Given the description of an element on the screen output the (x, y) to click on. 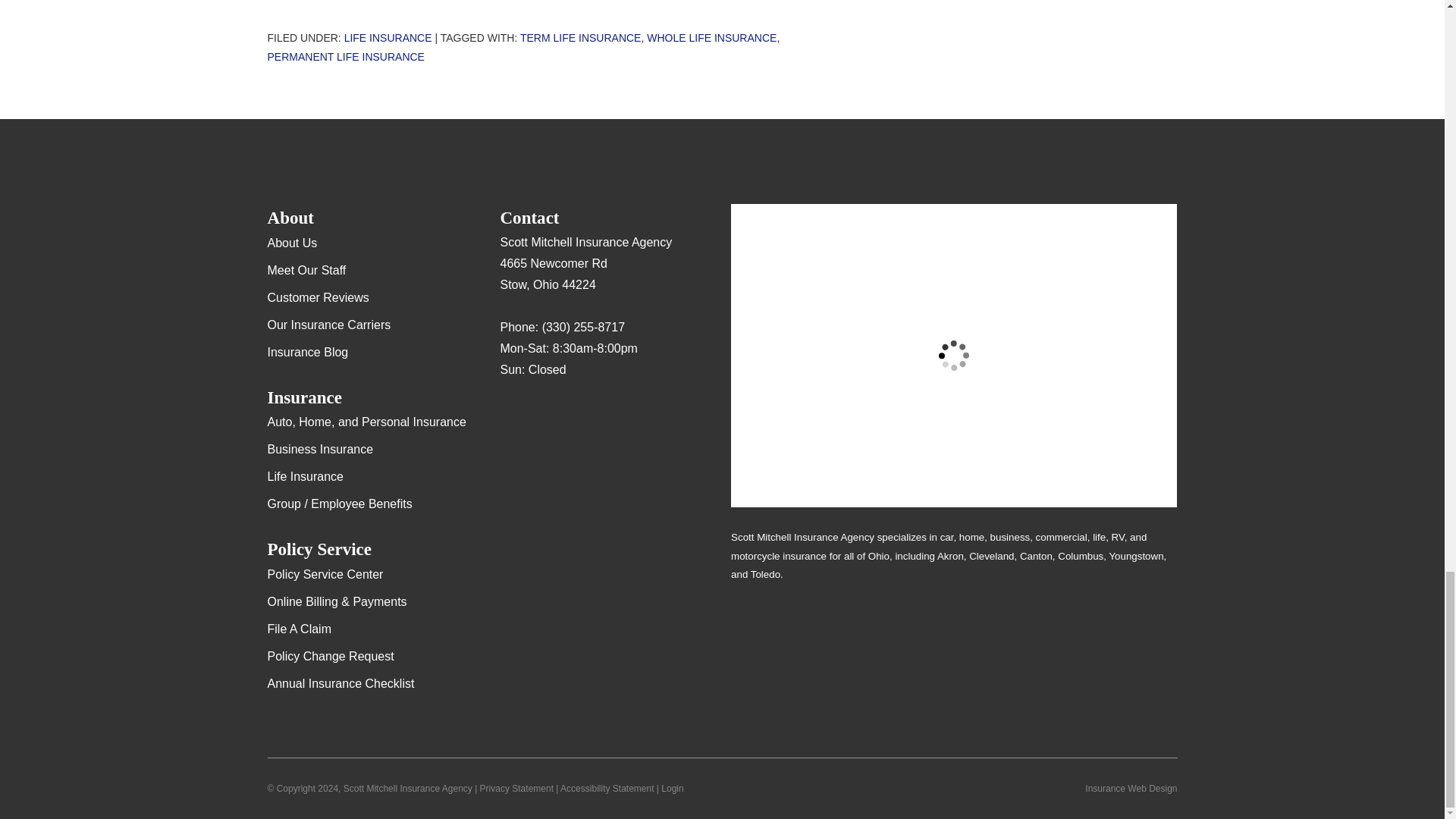
Life Insurance (387, 37)
Yelp (541, 414)
Facebook (571, 414)
Google Maps (511, 414)
Whole Life Insurance (711, 37)
Term Life Insurance (579, 37)
Permanent Life Insurance (344, 56)
